Given the description of an element on the screen output the (x, y) to click on. 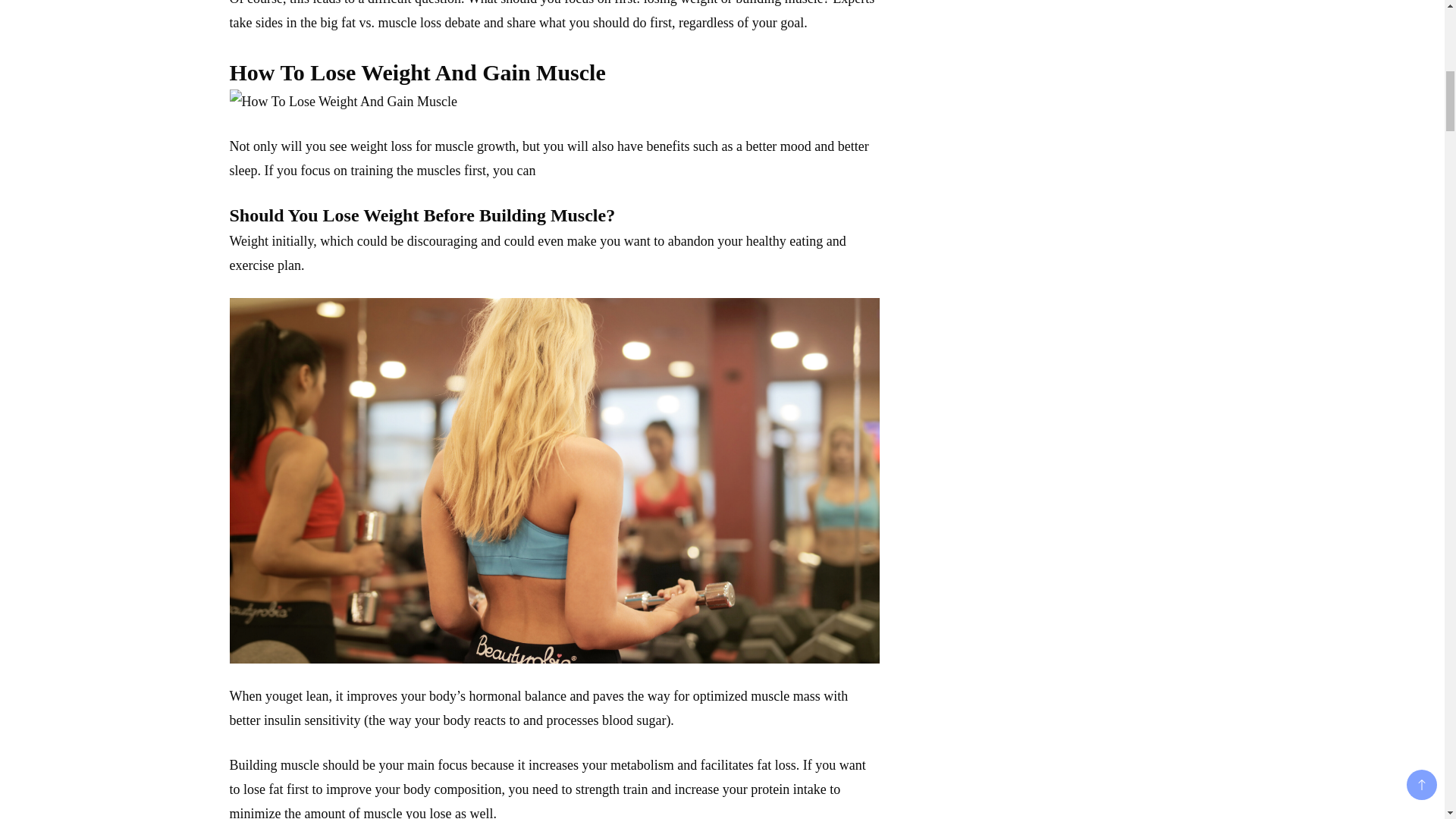
How To Lose Weight And Gain Muscle (342, 101)
